Given the description of an element on the screen output the (x, y) to click on. 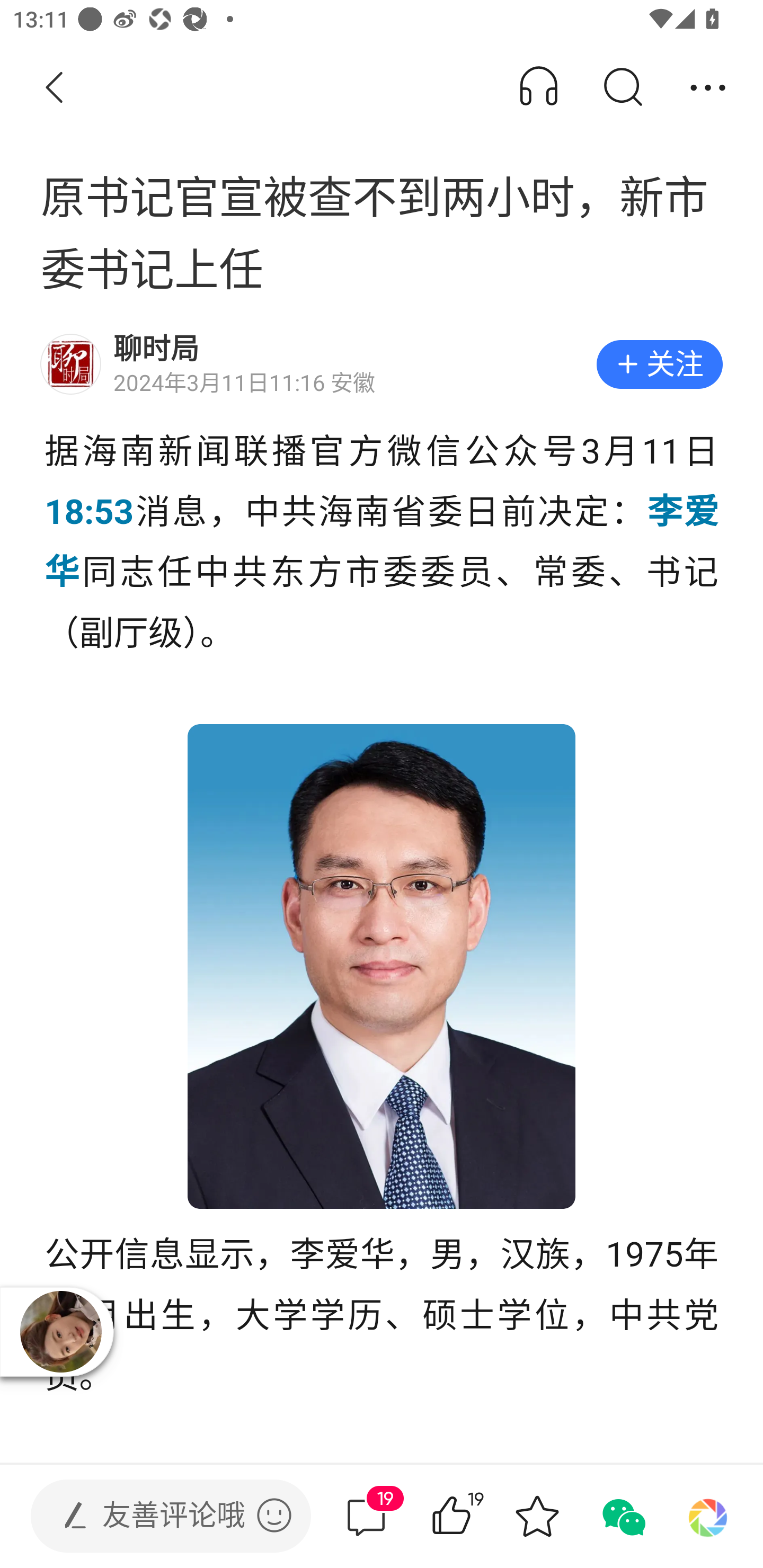
搜索  (622, 87)
分享  (707, 87)
 返回 (54, 87)
聊时局 2024年3月11日11:16 安徽  关注 (381, 364)
 关注 (659, 364)
新闻图片 (381, 966)
播放器 (60, 1330)
发表评论  友善评论哦 发表评论  (155, 1516)
19评论  19 评论 (365, 1516)
19赞 (476, 1516)
收藏  (536, 1516)
分享到微信  (622, 1516)
分享到朋友圈 (707, 1516)
 (274, 1515)
